Given the description of an element on the screen output the (x, y) to click on. 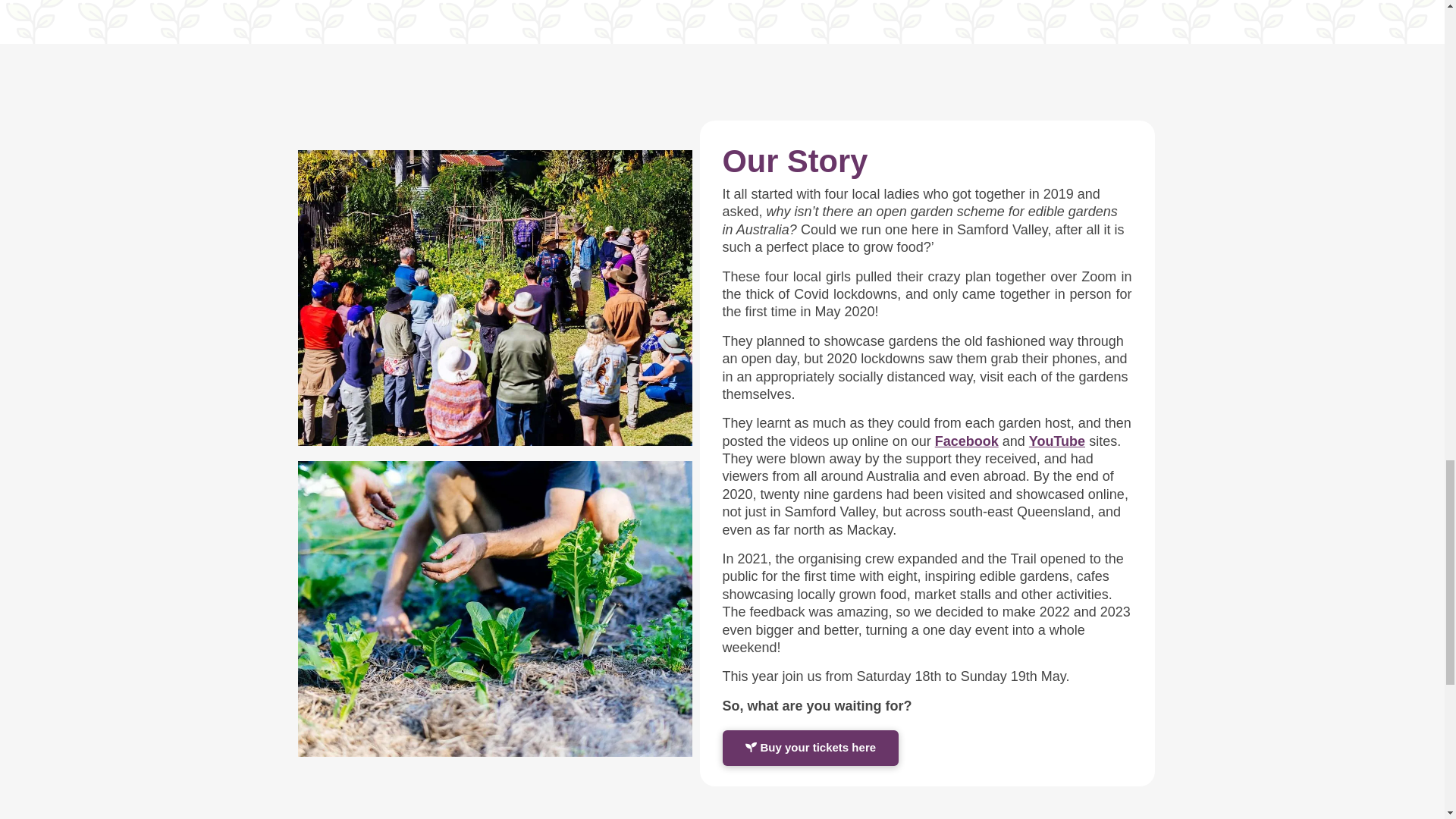
Buy your tickets here (810, 747)
Facebook (966, 441)
YouTube (1056, 441)
